Given the description of an element on the screen output the (x, y) to click on. 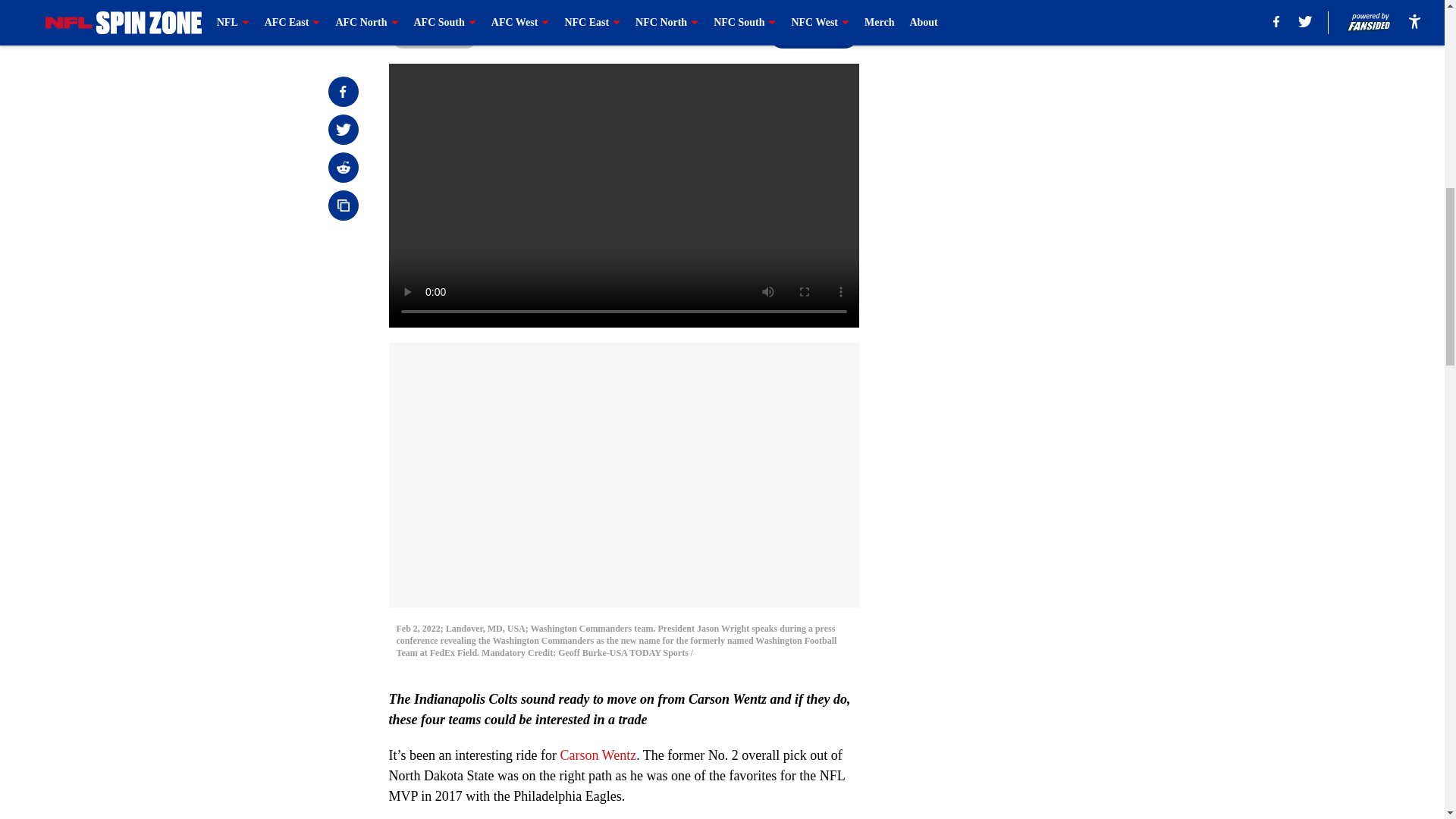
3rd party ad content (1047, 113)
3rd party ad content (1047, 332)
